Given the description of an element on the screen output the (x, y) to click on. 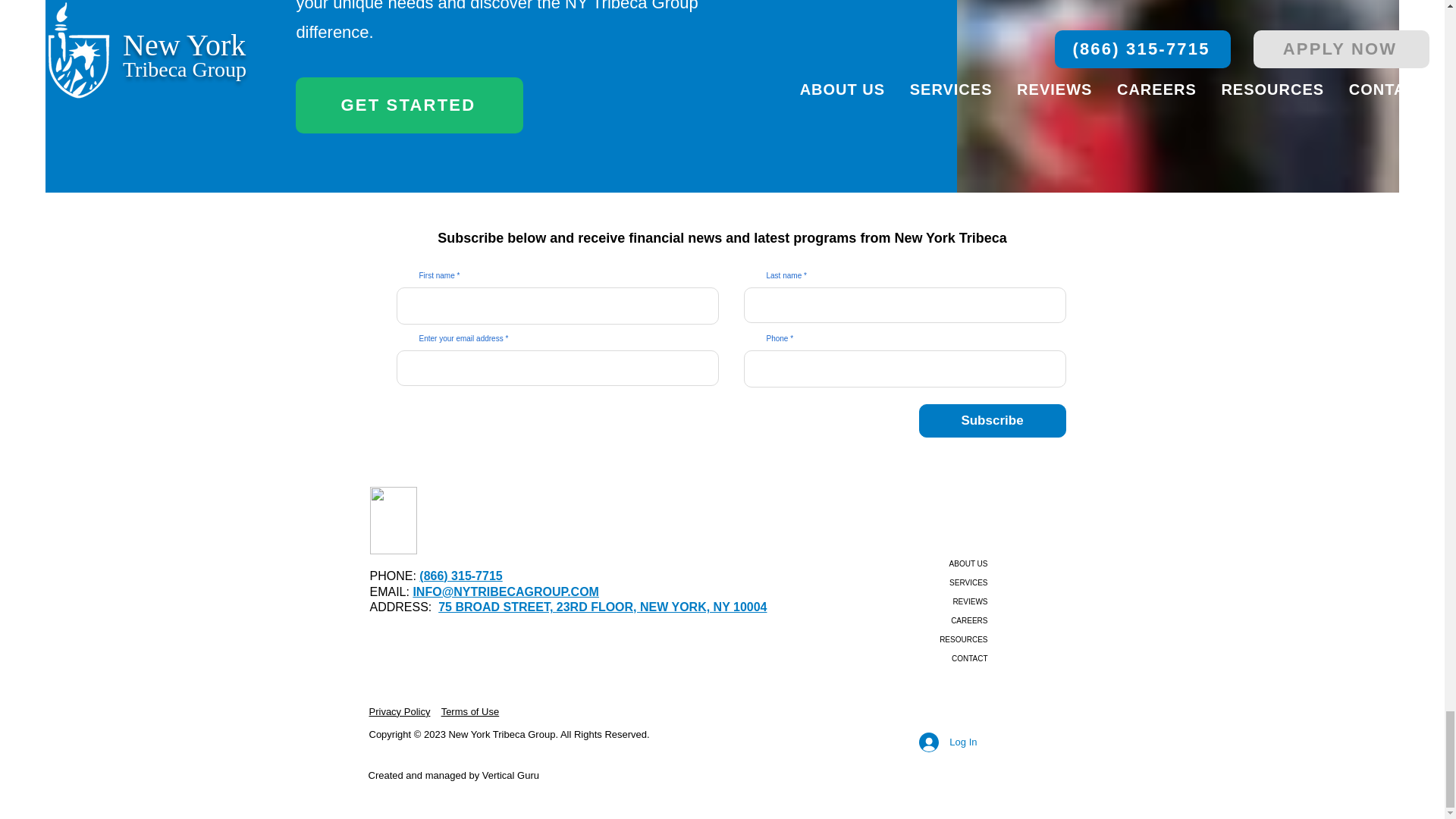
Terms of Use (470, 711)
Subscribe (991, 420)
Privacy Policy (398, 711)
RESOURCES (942, 639)
ABOUT US (942, 563)
75 BROAD STREET, 23RD FLOOR, NEW YORK, NY 10004 (602, 606)
CONTACT (942, 658)
CAREERS (942, 619)
Log In (947, 742)
SERVICES (942, 582)
